Given the description of an element on the screen output the (x, y) to click on. 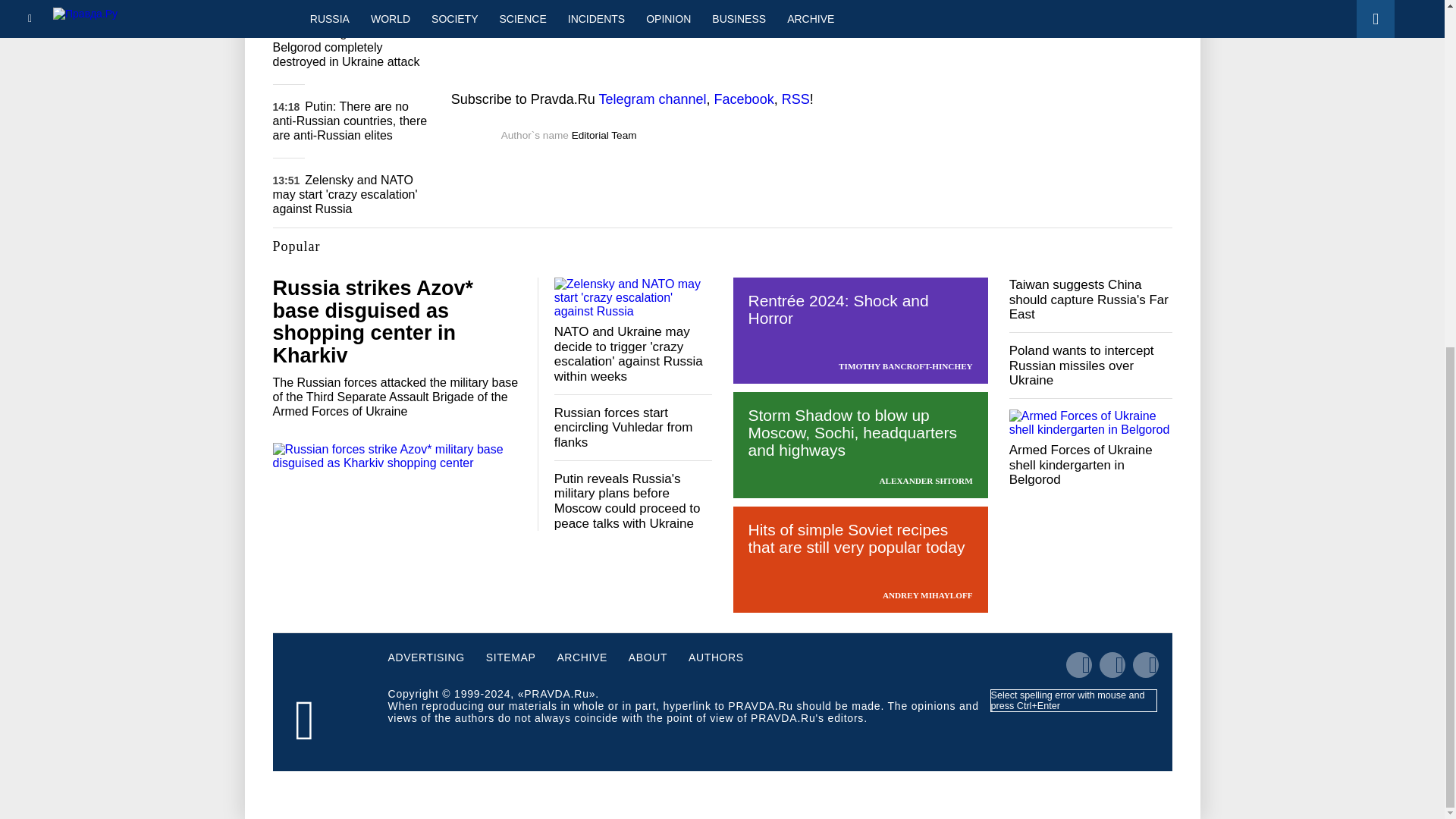
Telegram channel (652, 99)
Facebook (744, 99)
Editorial Team (604, 134)
RSS (795, 99)
